Given the description of an element on the screen output the (x, y) to click on. 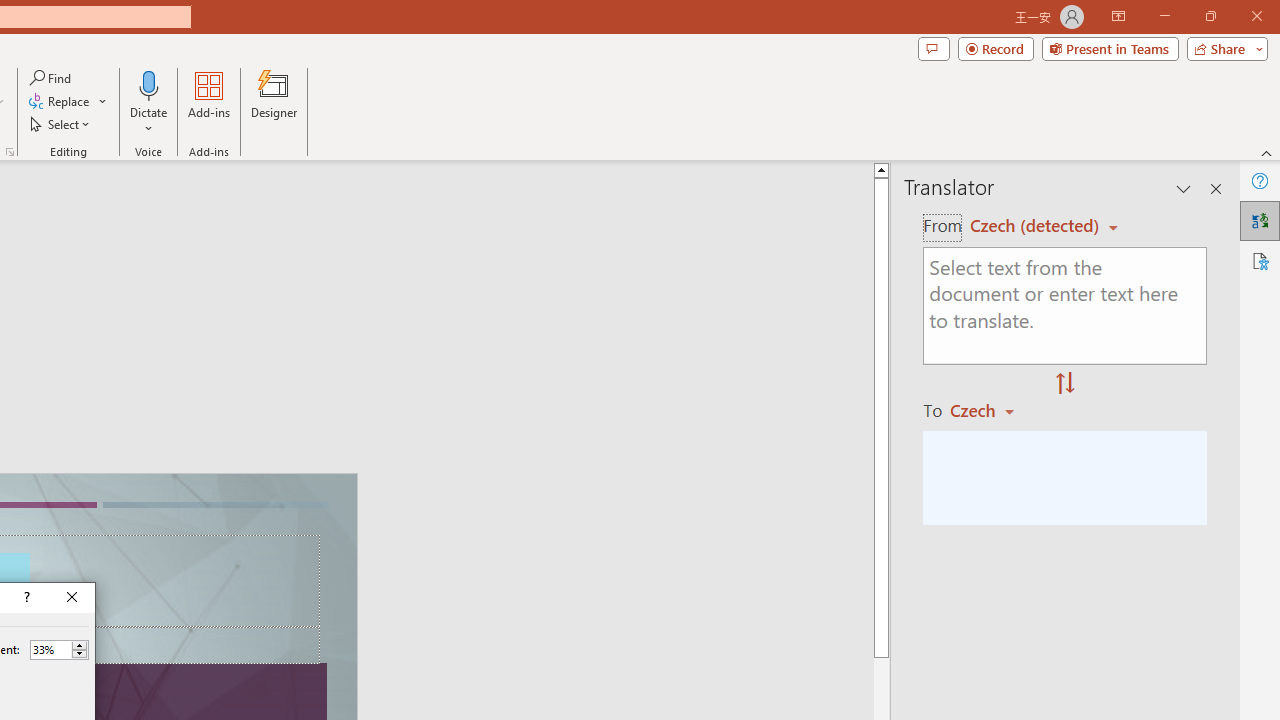
More (79, 645)
Less (79, 654)
Czech (detected) (1037, 225)
Context help (25, 597)
